Given the description of an element on the screen output the (x, y) to click on. 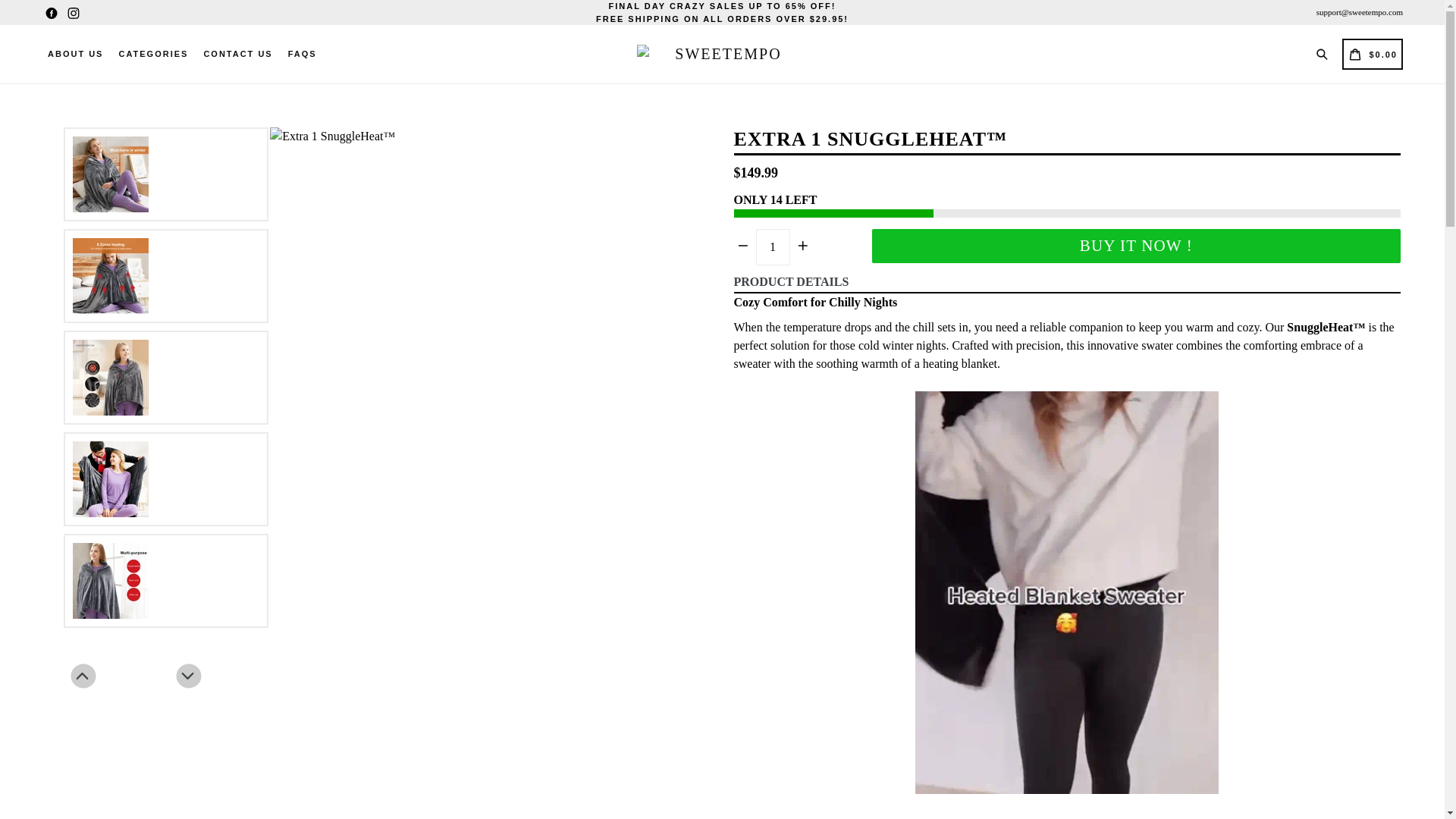
Sweetempo on Facebook (51, 11)
NEXT SLIDE (188, 676)
Sweetempo on Instagram (73, 11)
CATEGORIES (152, 54)
PREVIOUS SLIDE (83, 676)
Search (1324, 53)
ABOUT US (75, 54)
PRODUCT DETAILS (1063, 281)
Instagram (73, 11)
BUY IT NOW ! (1136, 245)
